Given the description of an element on the screen output the (x, y) to click on. 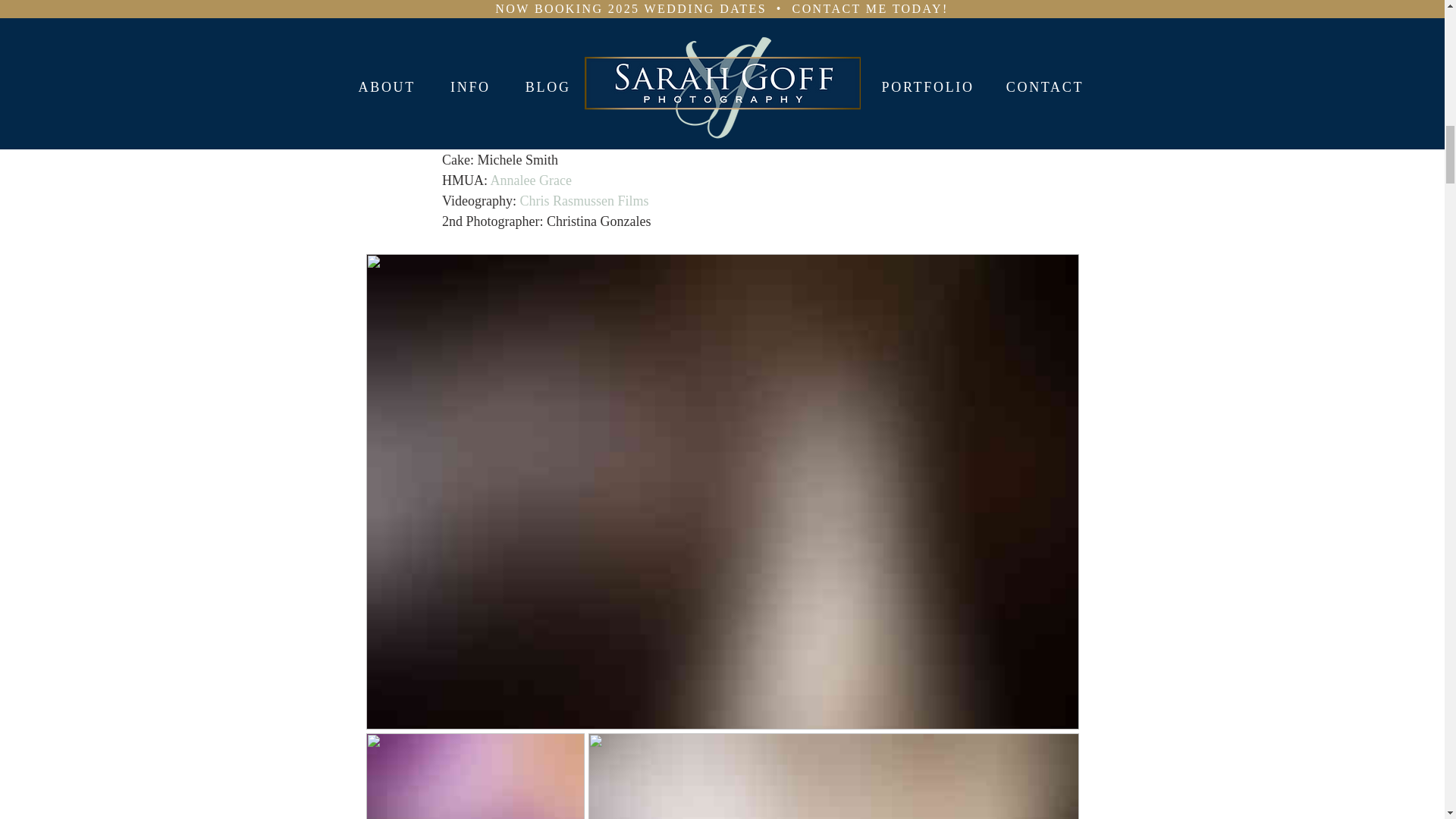
Annalee Grace (529, 180)
Blushing Bride Colorado (548, 98)
INDOCHINO (568, 118)
Chris Rasmussen Films (583, 200)
Kelly Tracy Weddings (576, 77)
Abloom (514, 139)
